Given the description of an element on the screen output the (x, y) to click on. 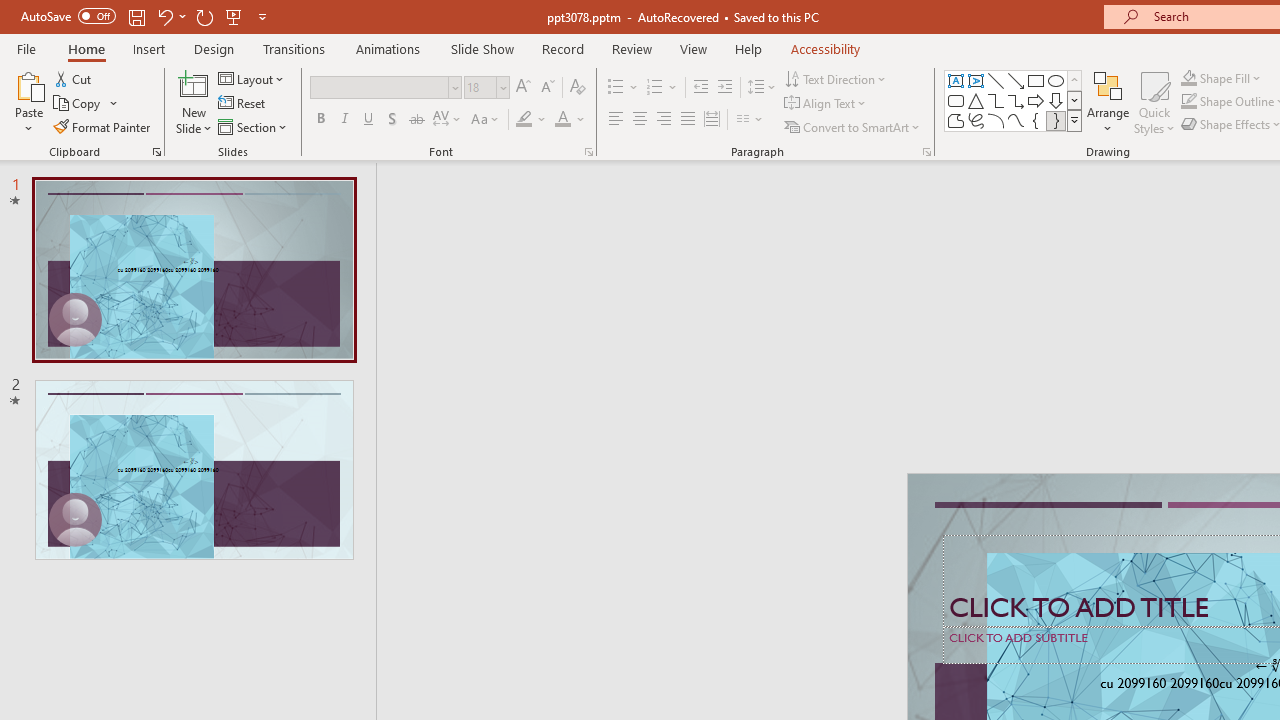
Vertical Text Box (975, 80)
Shapes (1074, 120)
Align Right (663, 119)
Oval (1055, 80)
Shape Fill Dark Green, Accent 2 (1188, 78)
Text Box (955, 80)
Office Clipboard... (156, 151)
Font Size (486, 87)
Right Brace (1055, 120)
Paste (28, 84)
Decrease Font Size (547, 87)
